Given the description of an element on the screen output the (x, y) to click on. 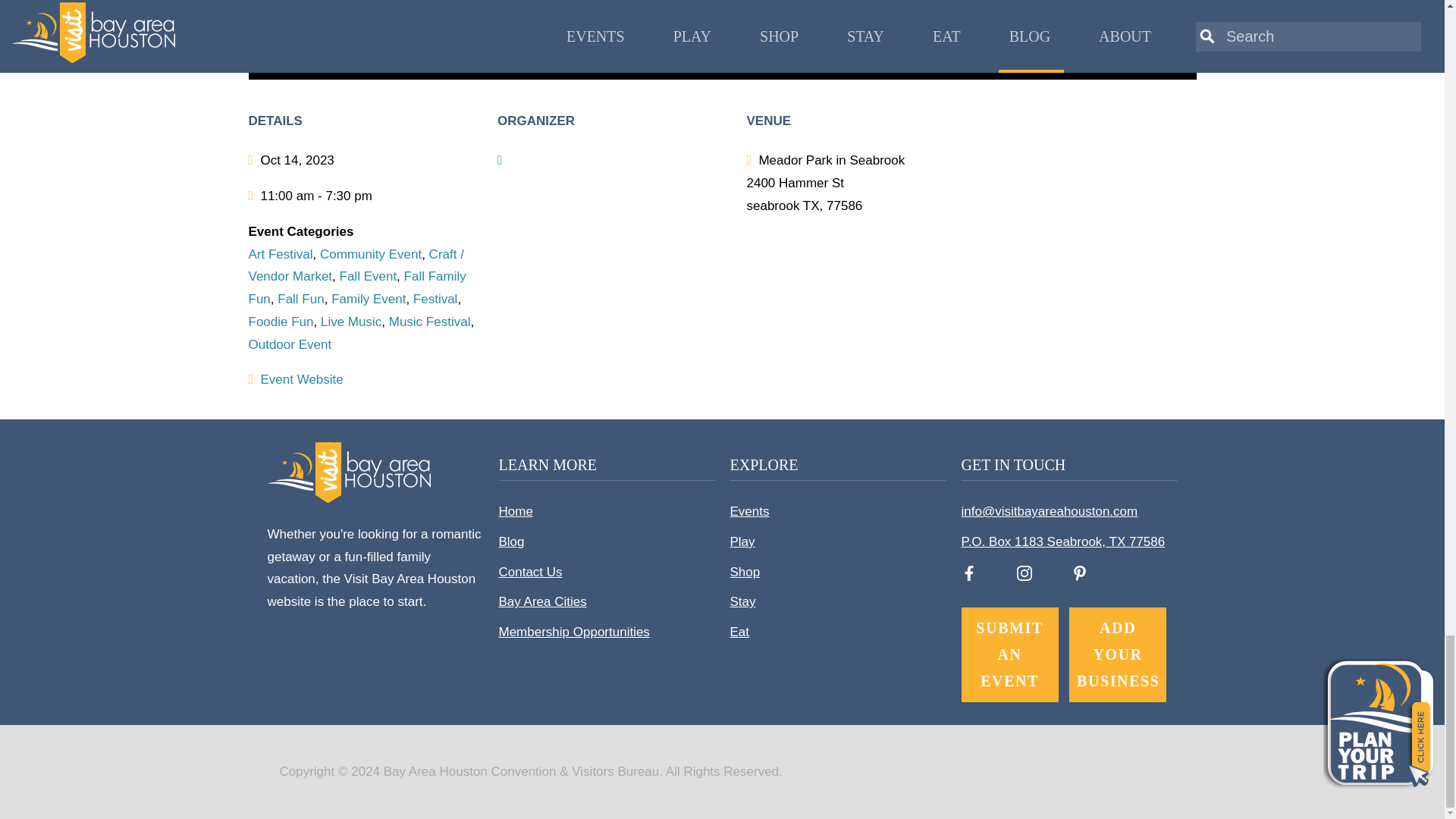
Google maps iframe displaying the address to BARge 295 (1114, 224)
